Given the description of an element on the screen output the (x, y) to click on. 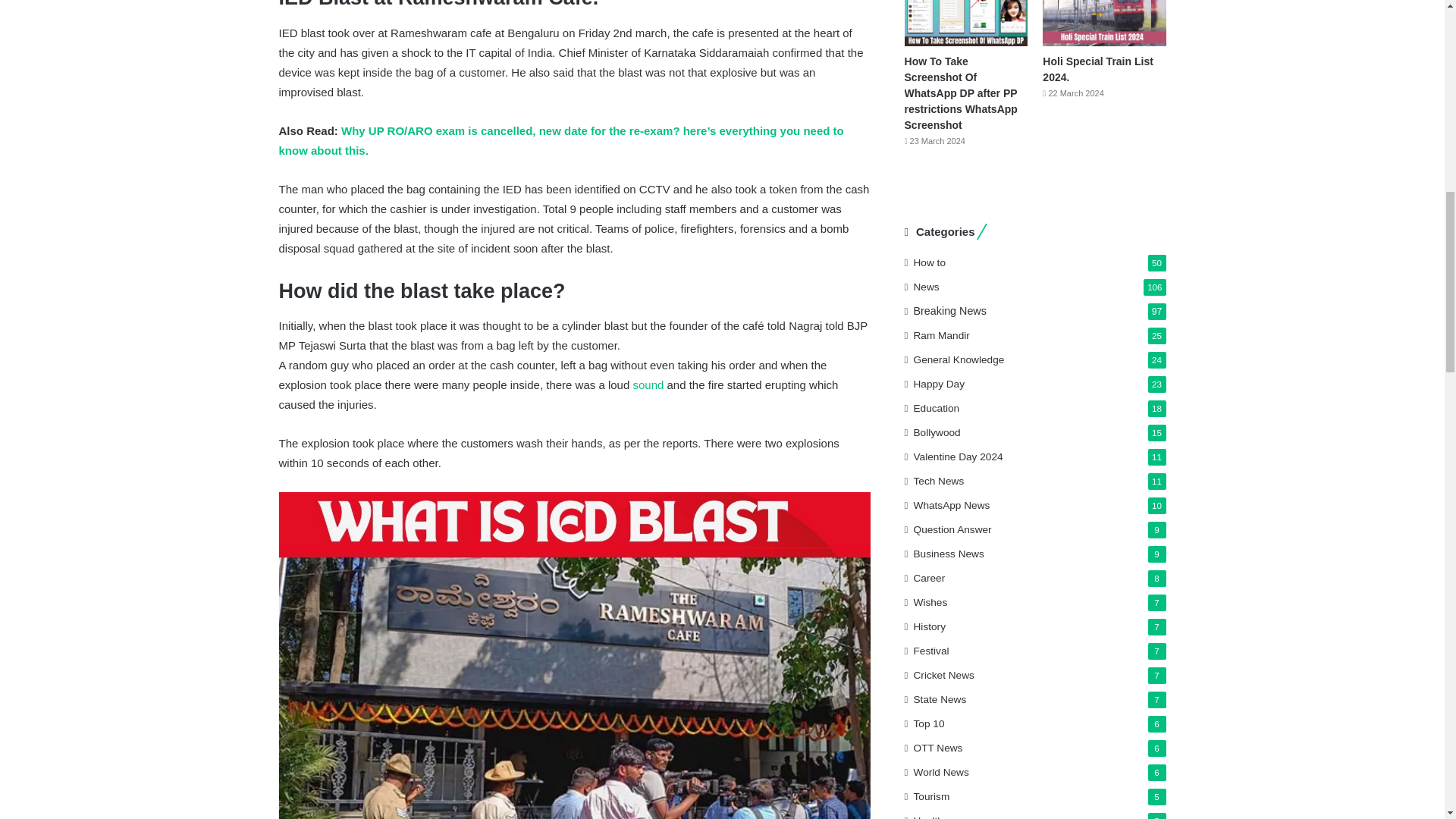
sound (647, 384)
